Given the description of an element on the screen output the (x, y) to click on. 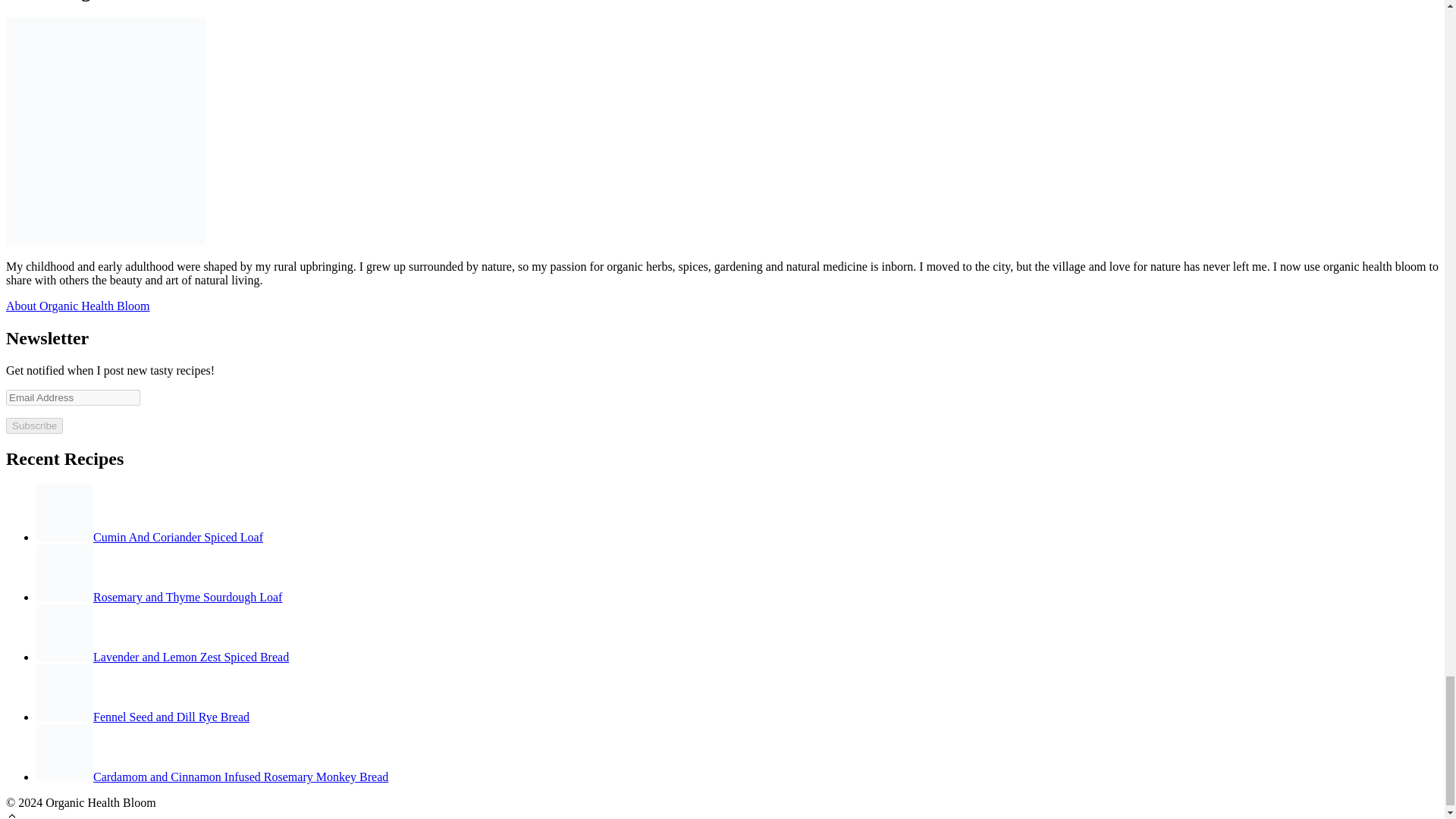
Cumin And Coriander Spiced Loaf (149, 536)
Rosemary and Thyme Sourdough Loaf (159, 596)
Subscribe (33, 425)
Subscribe (33, 425)
About Organic Health Bloom (77, 305)
